Given the description of an element on the screen output the (x, y) to click on. 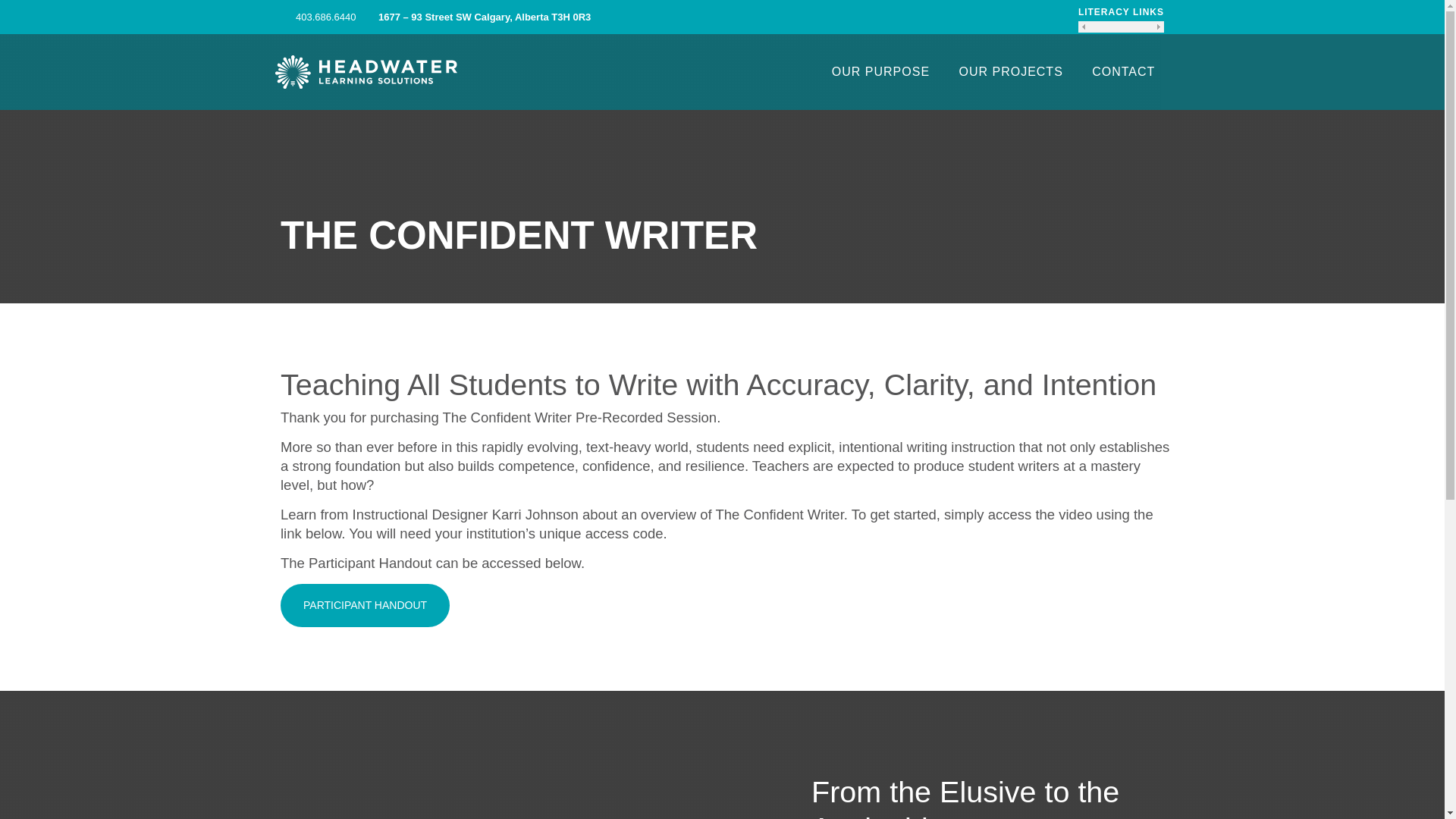
LITERACY LINKS (1120, 16)
CONTACT (1123, 71)
PARTICIPANT HANDOUT (365, 603)
OUR PURPOSE (880, 71)
OUR PROJECTS (1010, 71)
LITERACY LINKS (1120, 10)
